Given the description of an element on the screen output the (x, y) to click on. 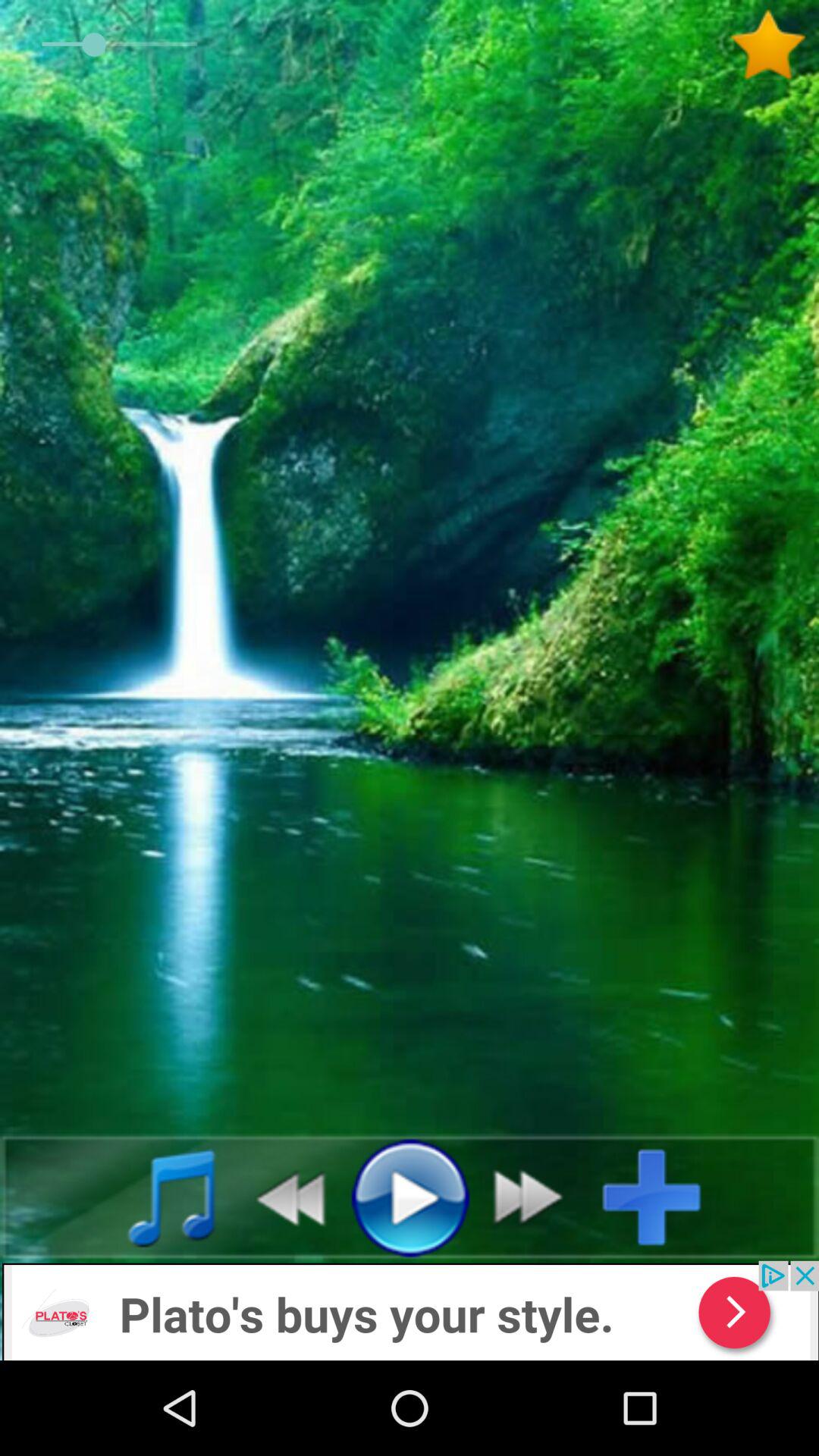
toggle music (154, 1196)
